Given the description of an element on the screen output the (x, y) to click on. 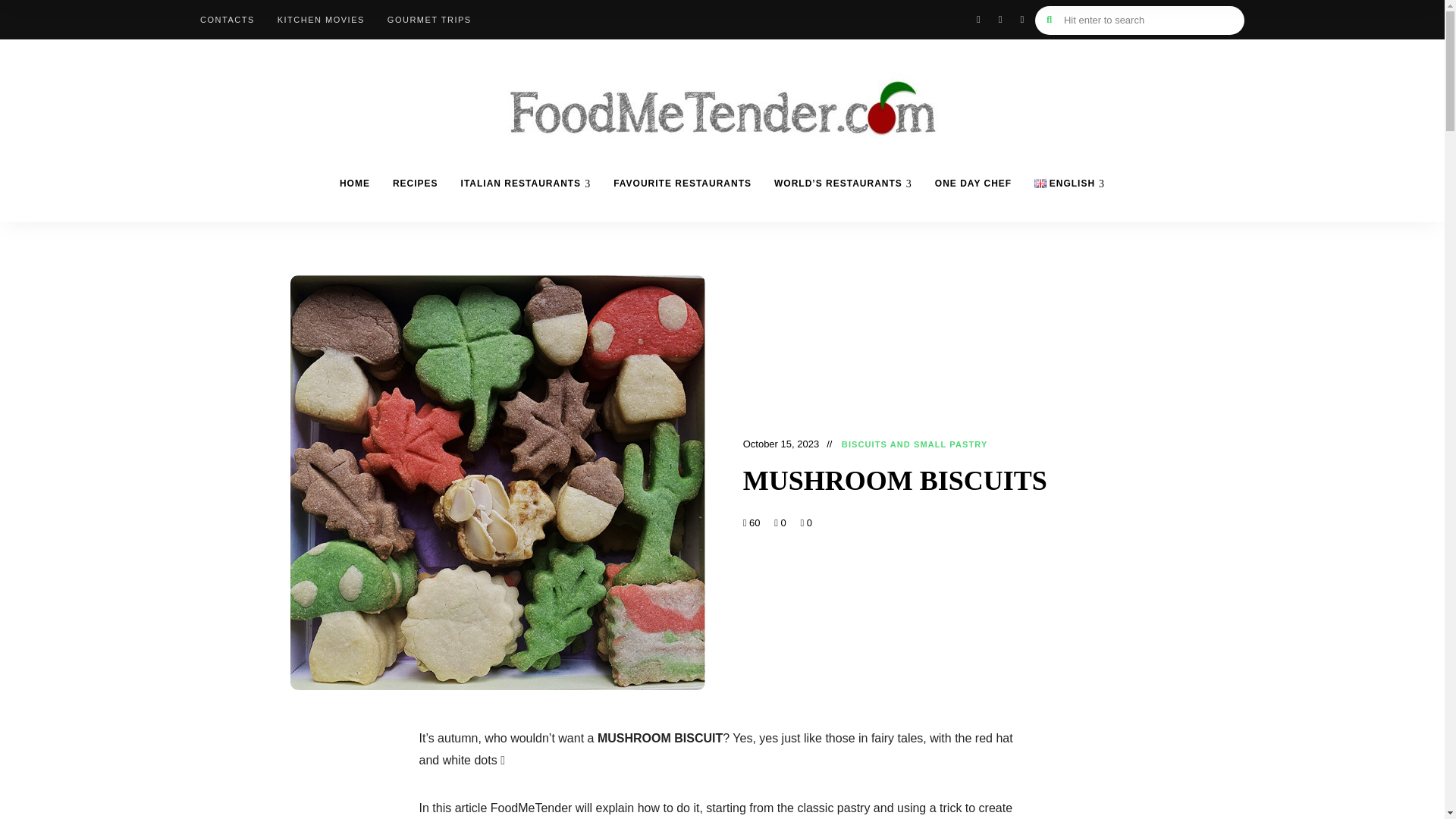
logo-bianco (722, 92)
CONTACTS (227, 19)
instagram (1000, 19)
RECIPES (415, 183)
KITCHEN MOVIES (320, 19)
pinterest (1021, 19)
facebook (979, 19)
ITALIAN RESTAURANTS (525, 183)
GOURMET TRIPS (429, 19)
